Given the description of an element on the screen output the (x, y) to click on. 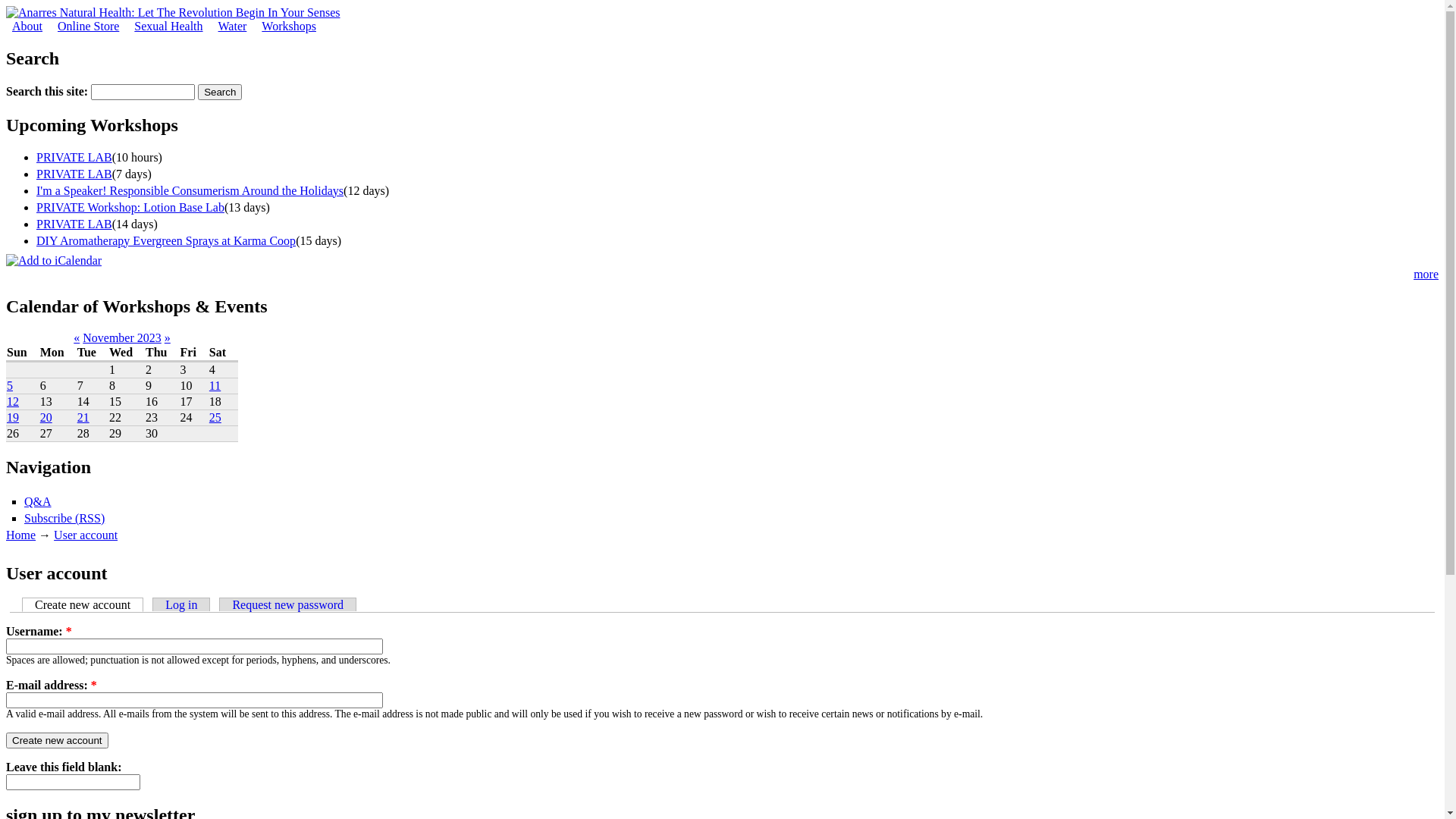
Request new password Element type: text (287, 604)
Create new account Element type: text (82, 604)
Add this calendar to your iCalendar Element type: hover (53, 260)
Water Element type: text (232, 25)
Enter the terms you wish to search for. Element type: hover (142, 92)
PRIVATE LAB Element type: text (74, 173)
I'm a Speaker! Responsible Consumerism Around the Holidays Element type: text (189, 190)
Log in Element type: text (181, 604)
Workshops Element type: text (288, 25)
Sexual Health Element type: text (168, 25)
12 Element type: text (12, 401)
21 Element type: text (83, 417)
Create new account Element type: text (57, 740)
11 Element type: text (214, 385)
Search Element type: text (219, 92)
19 Element type: text (12, 417)
Q&A Element type: text (37, 501)
User account Element type: text (85, 534)
DIY Aromatherapy Evergreen Sprays at Karma Coop Element type: text (165, 240)
PRIVATE LAB Element type: text (74, 156)
more Element type: text (1425, 273)
Subscribe (RSS) Element type: text (64, 517)
PRIVATE LAB Element type: text (74, 223)
5 Element type: text (9, 385)
November 2023 Element type: text (121, 337)
20 Element type: text (46, 417)
Home Element type: text (20, 534)
About Element type: text (27, 25)
25 Element type: text (215, 417)
Online Store Element type: text (88, 25)
PRIVATE Workshop: Lotion Base Lab Element type: text (130, 206)
